Given the description of an element on the screen output the (x, y) to click on. 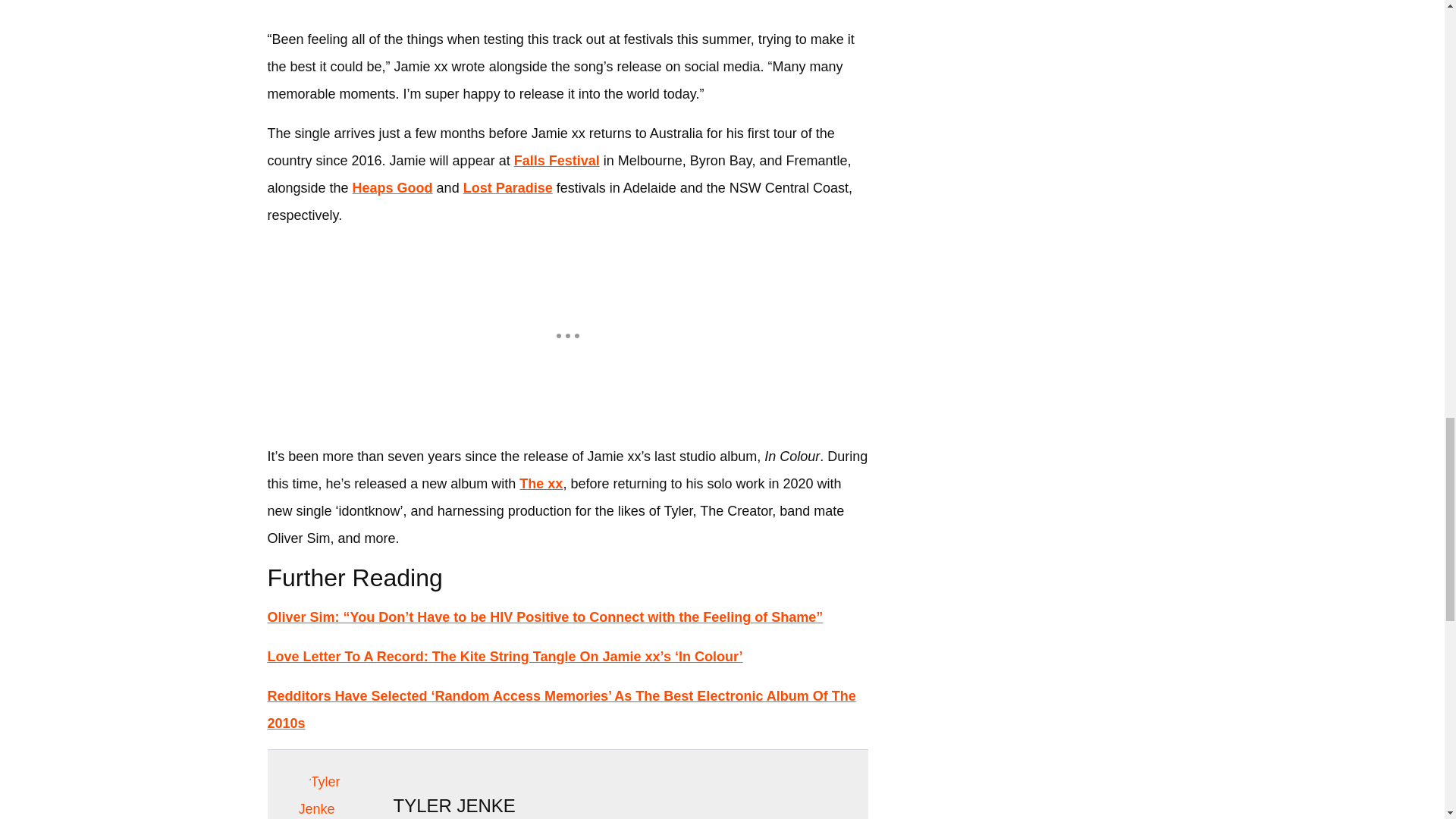
Falls Festival (556, 160)
The xx (540, 483)
Lost Paradise (508, 187)
TYLER JENKE (454, 805)
Heaps Good (392, 187)
